Given the description of an element on the screen output the (x, y) to click on. 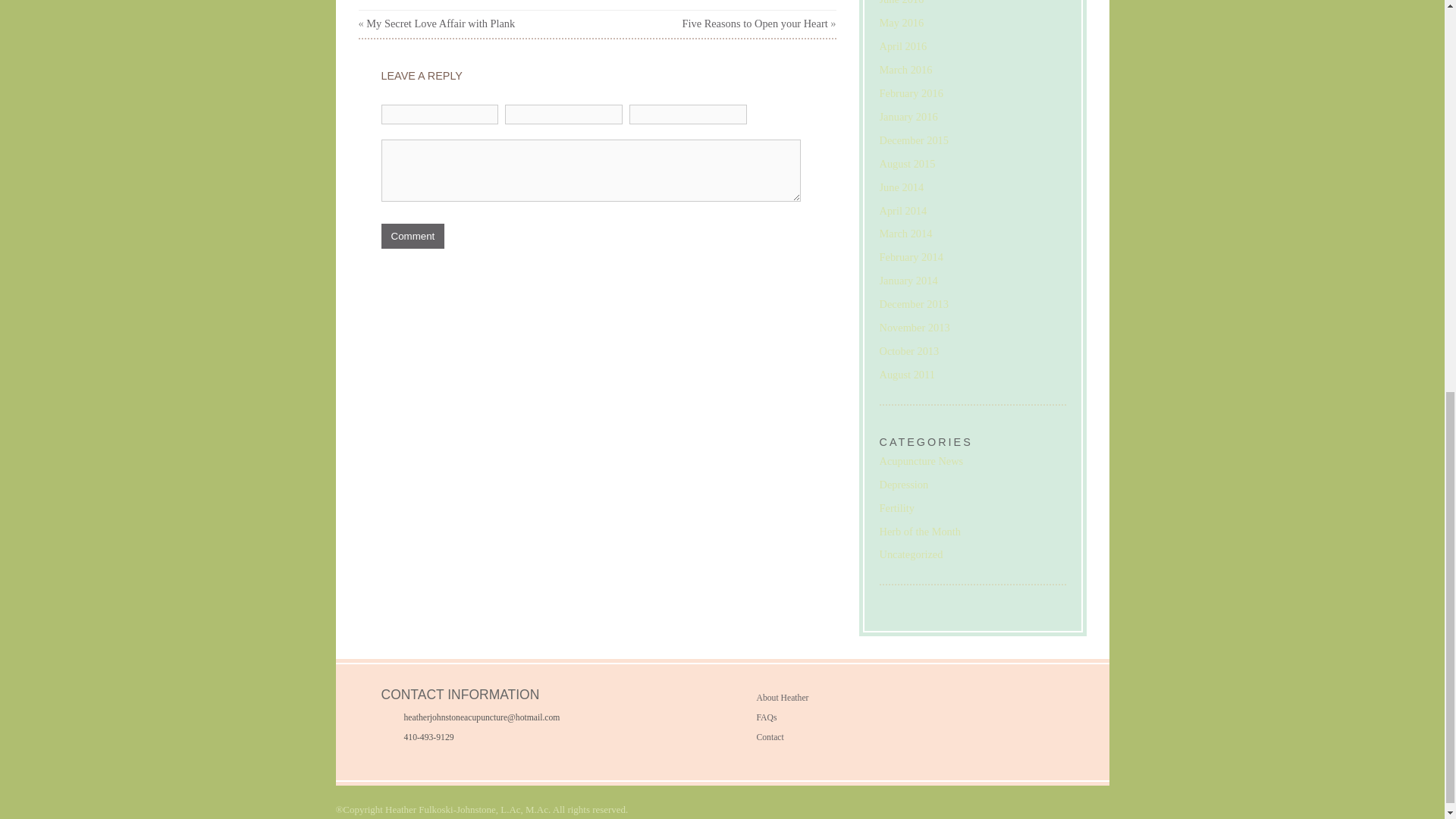
Five Reasons to Open your Heart (754, 23)
February 2016 (911, 92)
Website (687, 114)
Comment (412, 235)
May 2016 (901, 22)
December 2015 (914, 140)
Comment (412, 235)
March 2016 (906, 69)
January 2016 (908, 116)
Comment (590, 170)
My Secret Love Affair with Plank (440, 23)
June 2016 (901, 2)
April 2016 (903, 46)
